Given the description of an element on the screen output the (x, y) to click on. 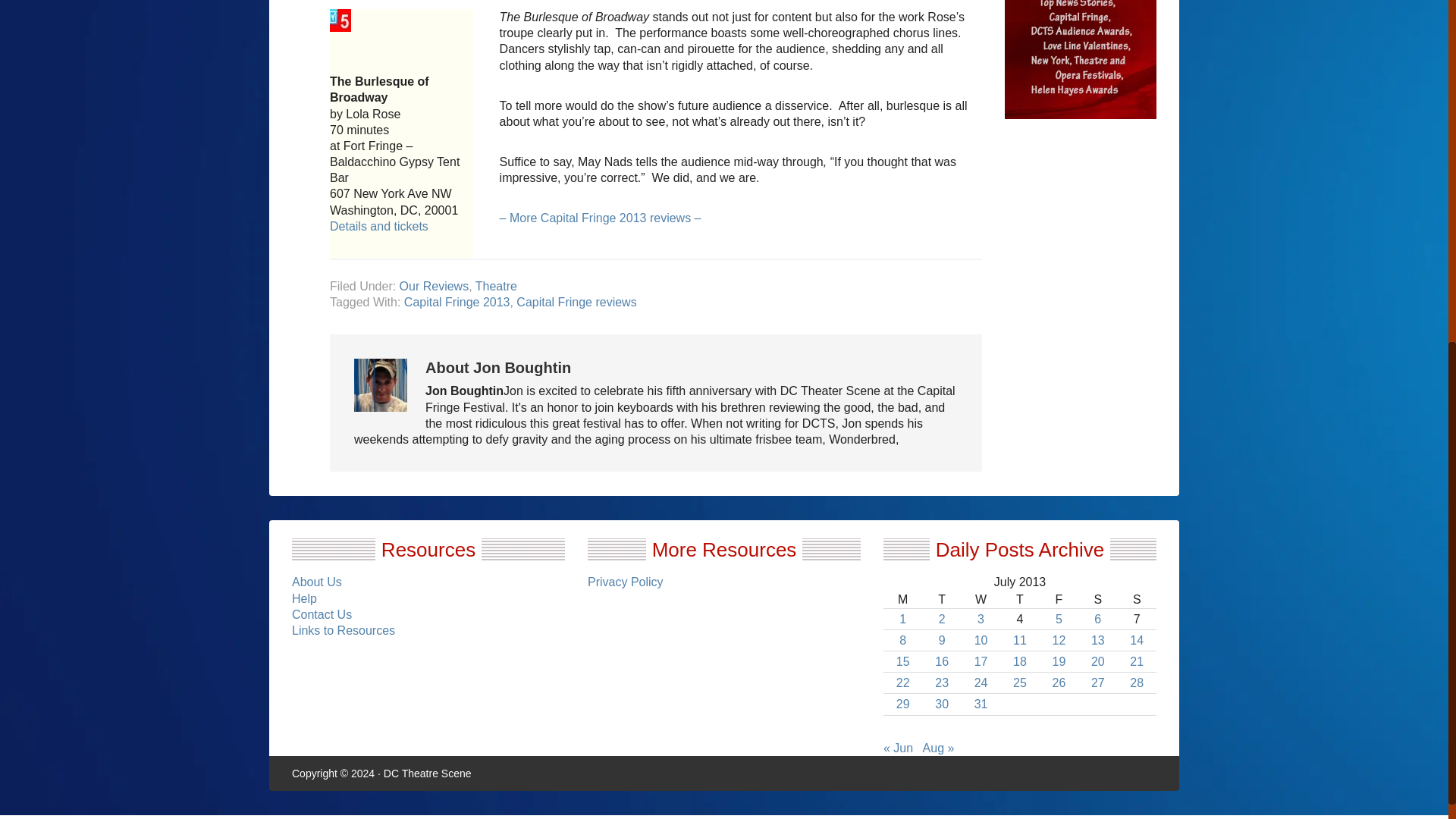
About Us (317, 581)
Capital Fringe 2013 (457, 301)
Details and tickets (379, 226)
Theatre (496, 286)
Our Reviews (433, 286)
Saturday (1097, 599)
Monday (902, 599)
Thursday (1019, 599)
Tuesday (940, 599)
Sunday (1137, 599)
Friday (1058, 599)
Wednesday (980, 599)
Capital Fringe reviews (576, 301)
